Given the description of an element on the screen output the (x, y) to click on. 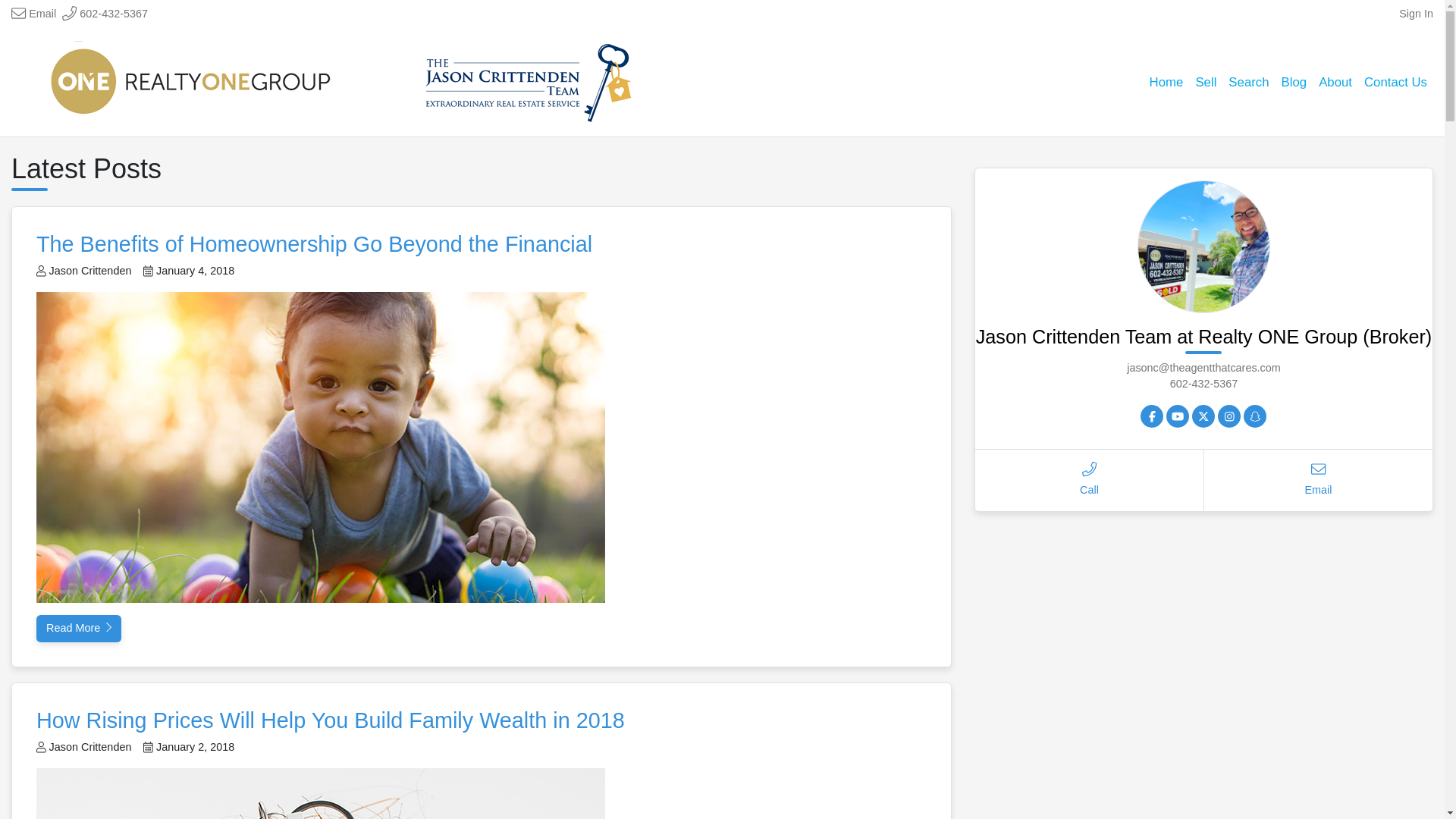
Sell (1206, 81)
Read More (78, 628)
The Benefits of Homeownership Go Beyond the Financial (314, 243)
Sign In (1415, 13)
How Rising Prices Will Help You Build Family Wealth in 2018 (330, 720)
Blog (1294, 81)
About (1335, 81)
602-432-5367 (105, 13)
Email (33, 13)
Home (1165, 81)
